Given the description of an element on the screen output the (x, y) to click on. 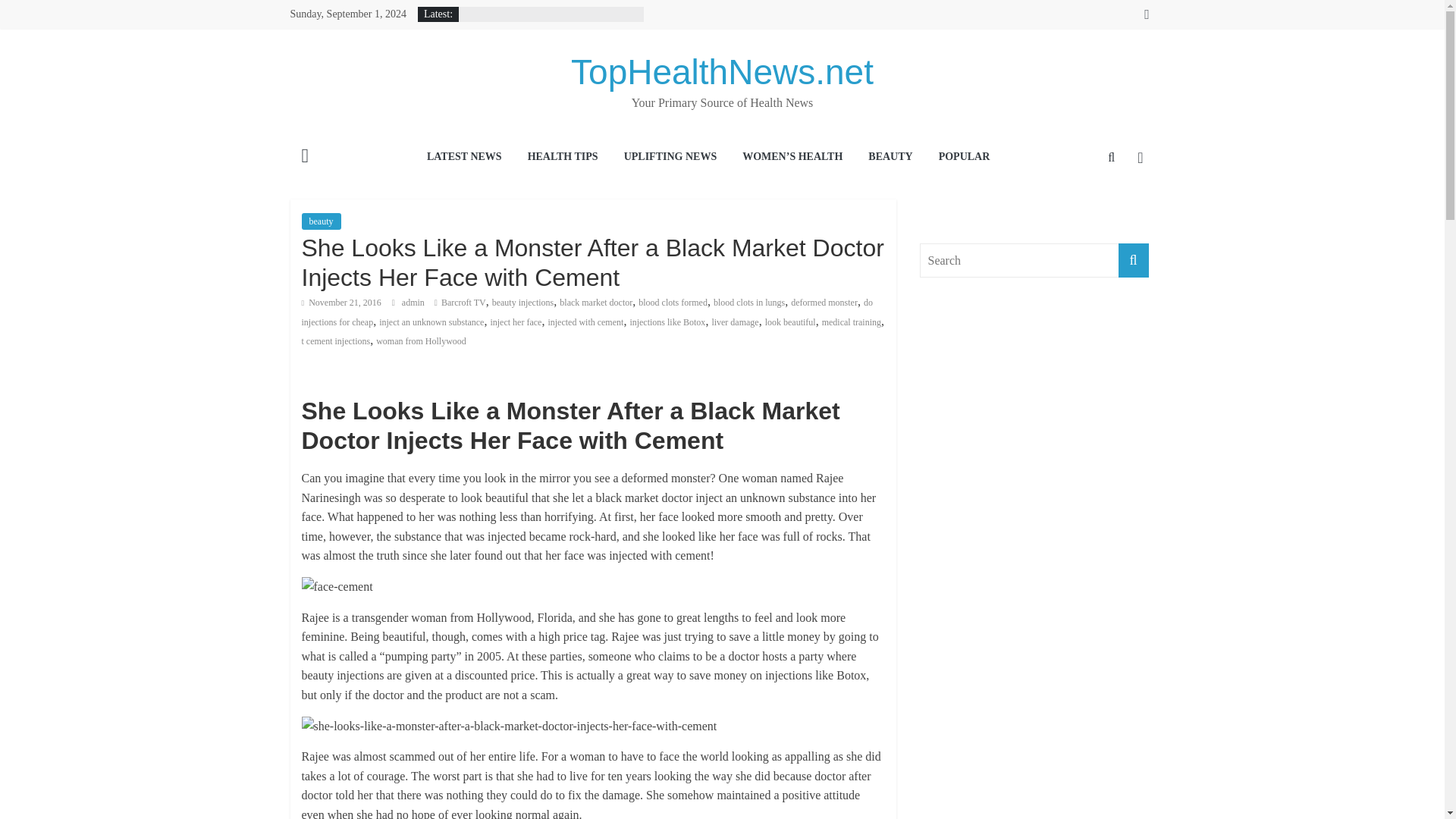
Barcroft TV (463, 302)
medical training (851, 321)
t cement injections (336, 340)
inject an unknown substance (430, 321)
look beautiful (790, 321)
injected with cement (585, 321)
HEALTH TIPS (562, 157)
BEAUTY (889, 157)
UPLIFTING NEWS (670, 157)
black market doctor (595, 302)
